Given the description of an element on the screen output the (x, y) to click on. 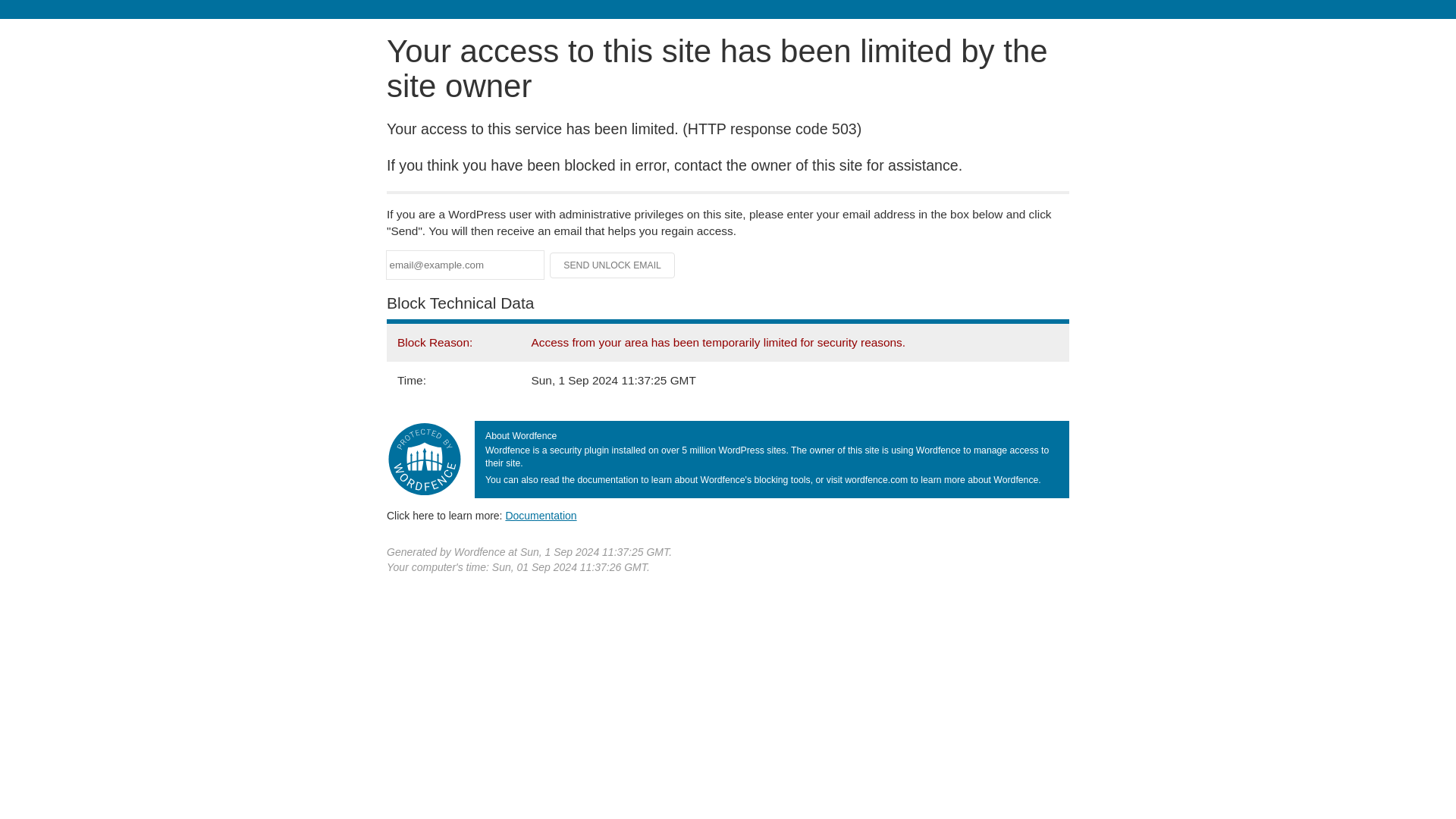
Documentation (540, 515)
Send Unlock Email (612, 265)
Send Unlock Email (612, 265)
